Given the description of an element on the screen output the (x, y) to click on. 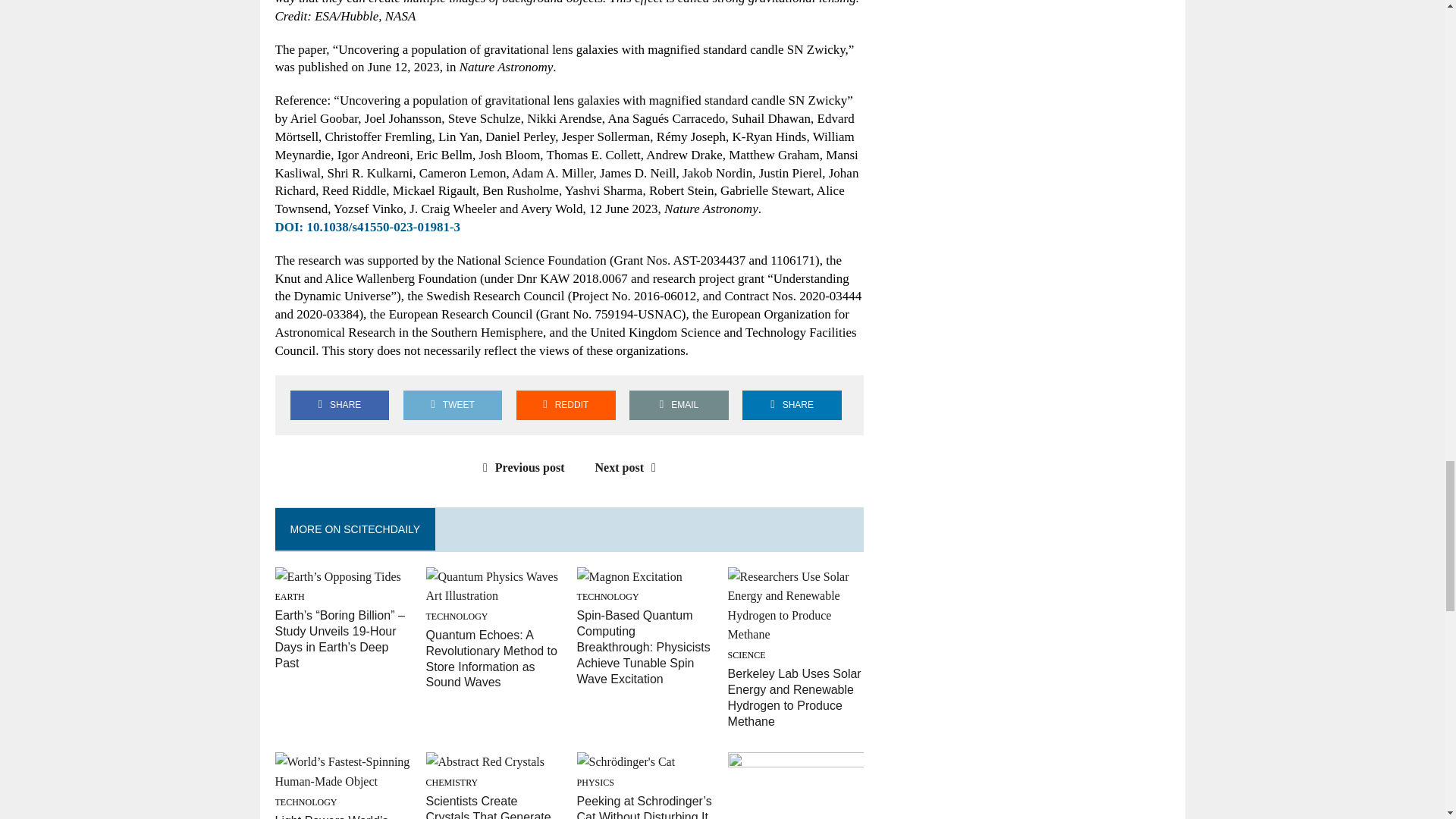
Share on Facebook (338, 405)
Tweet This Article (452, 405)
Post This Article to Reddit (565, 405)
